Given the description of an element on the screen output the (x, y) to click on. 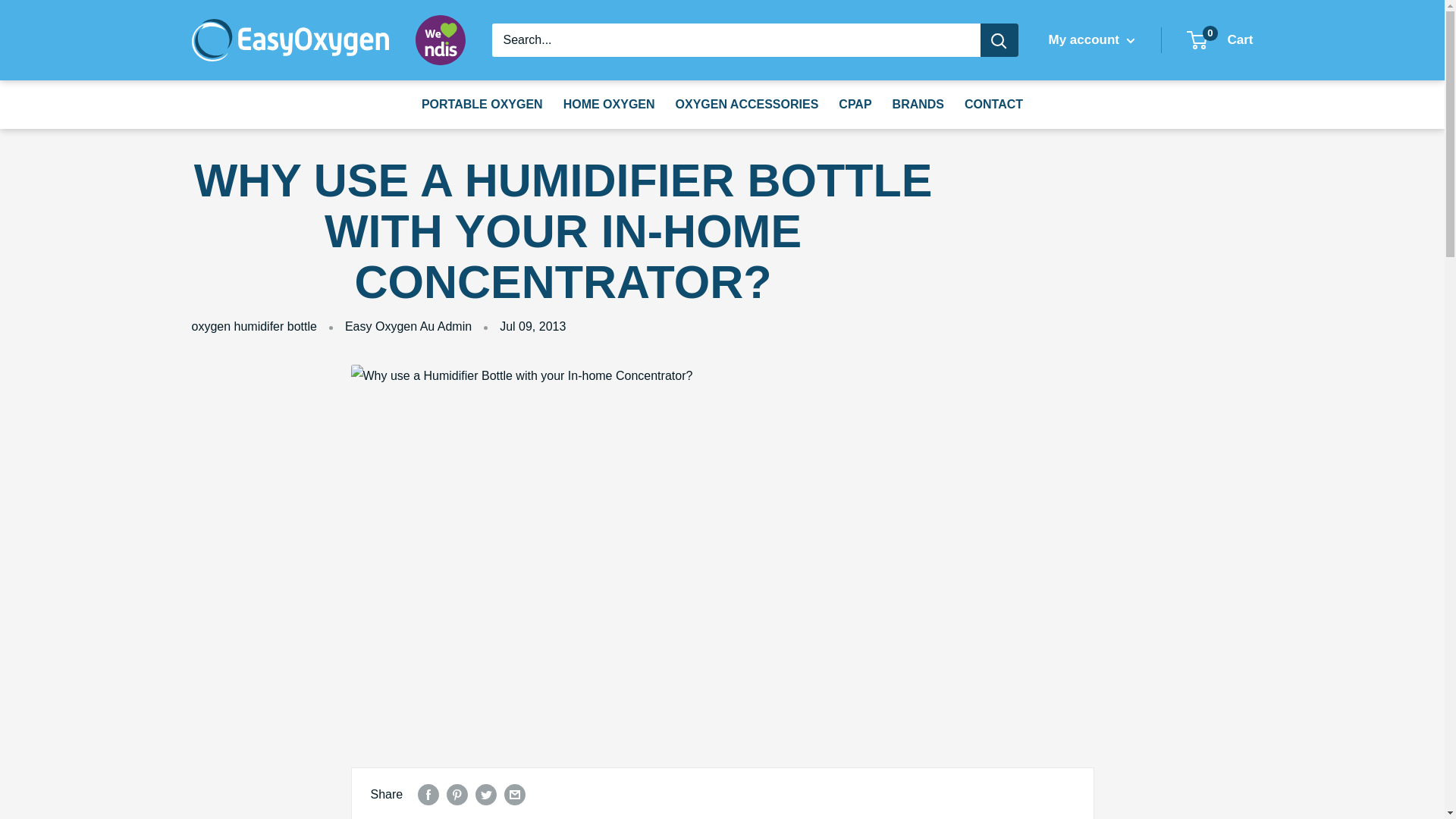
Registered NDIS Provider (439, 40)
